Given the description of an element on the screen output the (x, y) to click on. 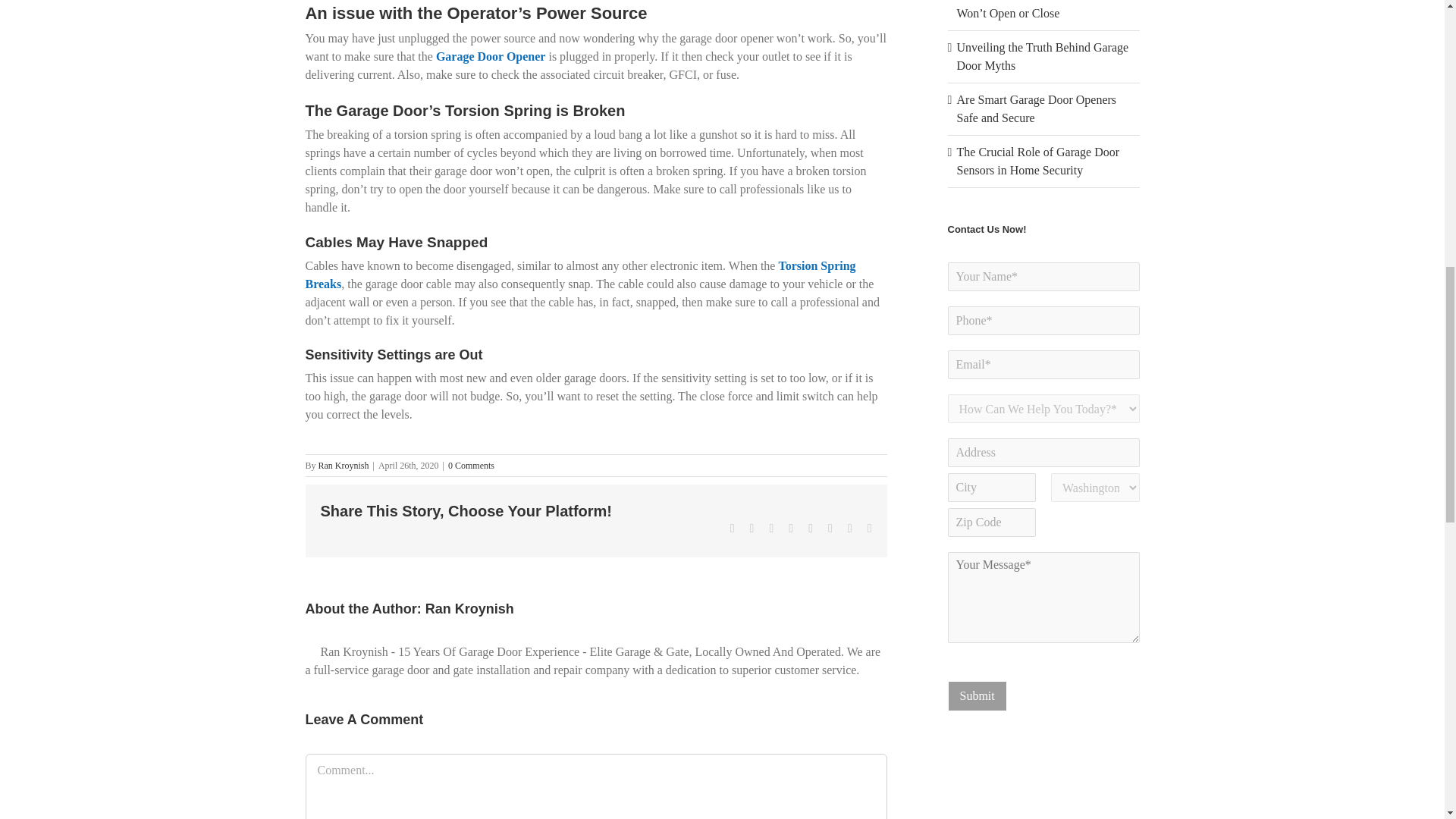
Posts by Ran Kroynish (343, 465)
